Given the description of an element on the screen output the (x, y) to click on. 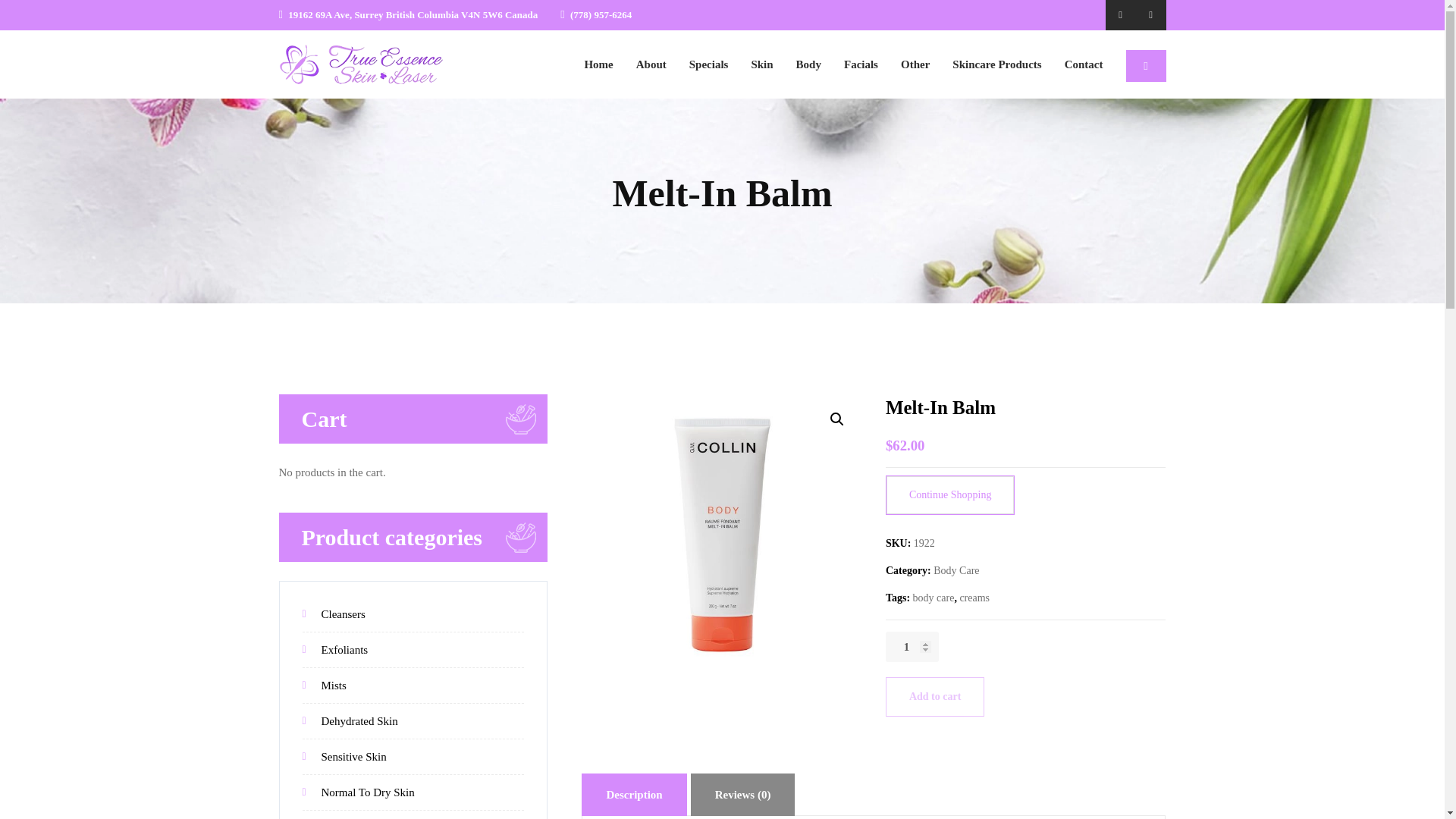
View your shopping cart (1145, 65)
1 (912, 646)
